Given the description of an element on the screen output the (x, y) to click on. 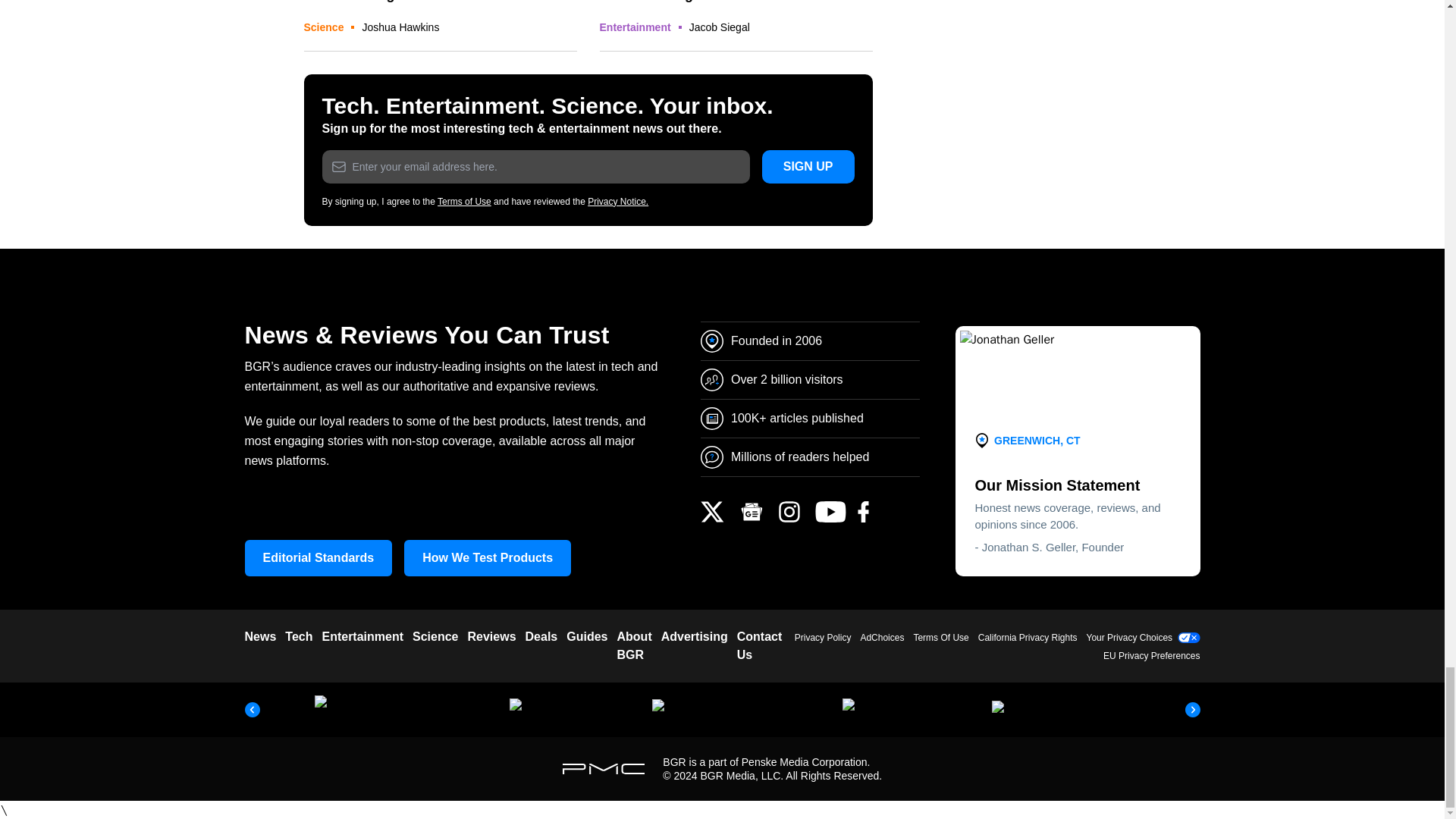
Posts by Jacob Siegal (718, 27)
Posts by Joshua Hawkins (400, 27)
